Given the description of an element on the screen output the (x, y) to click on. 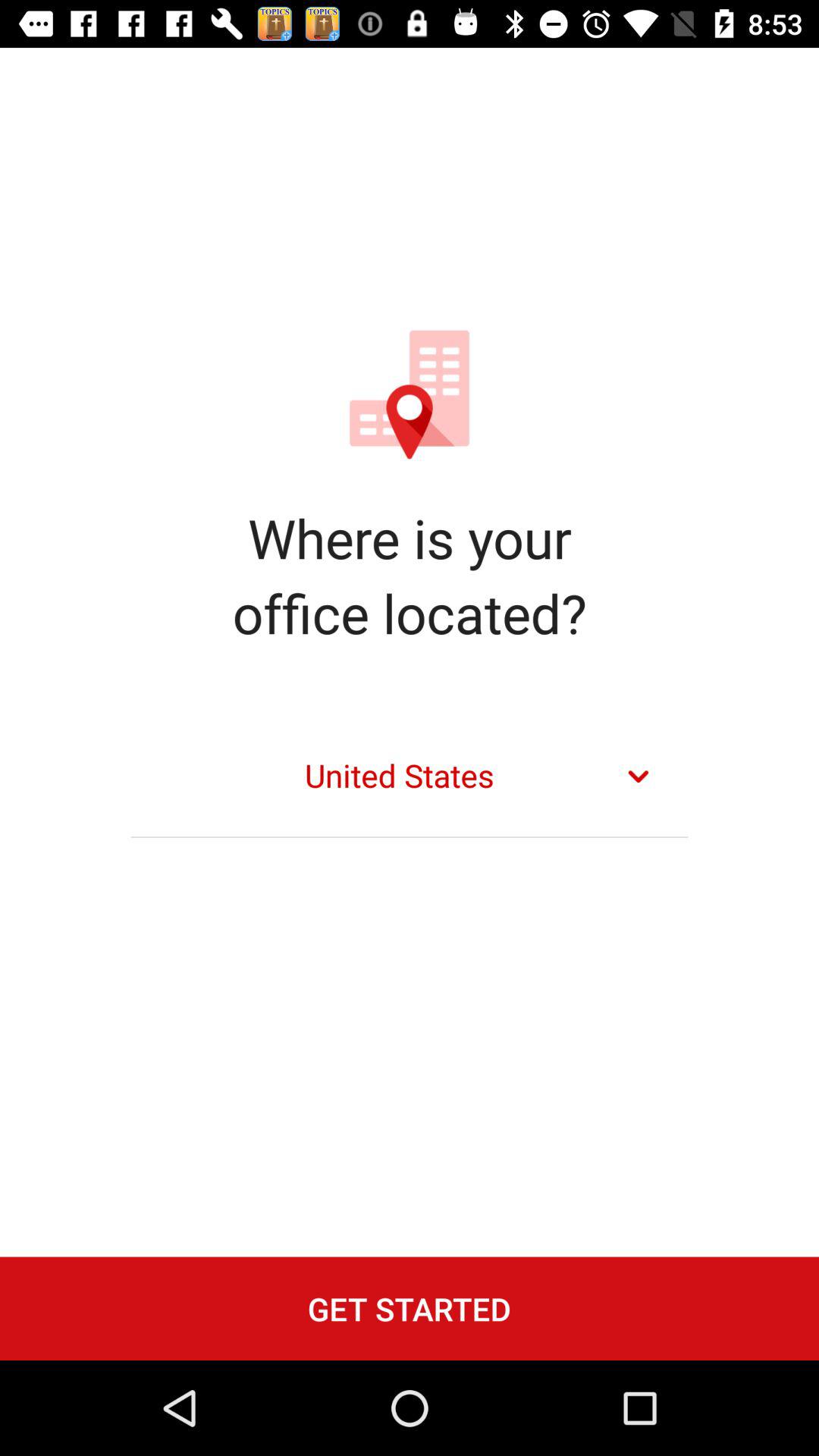
turn off united states item (409, 776)
